Given the description of an element on the screen output the (x, y) to click on. 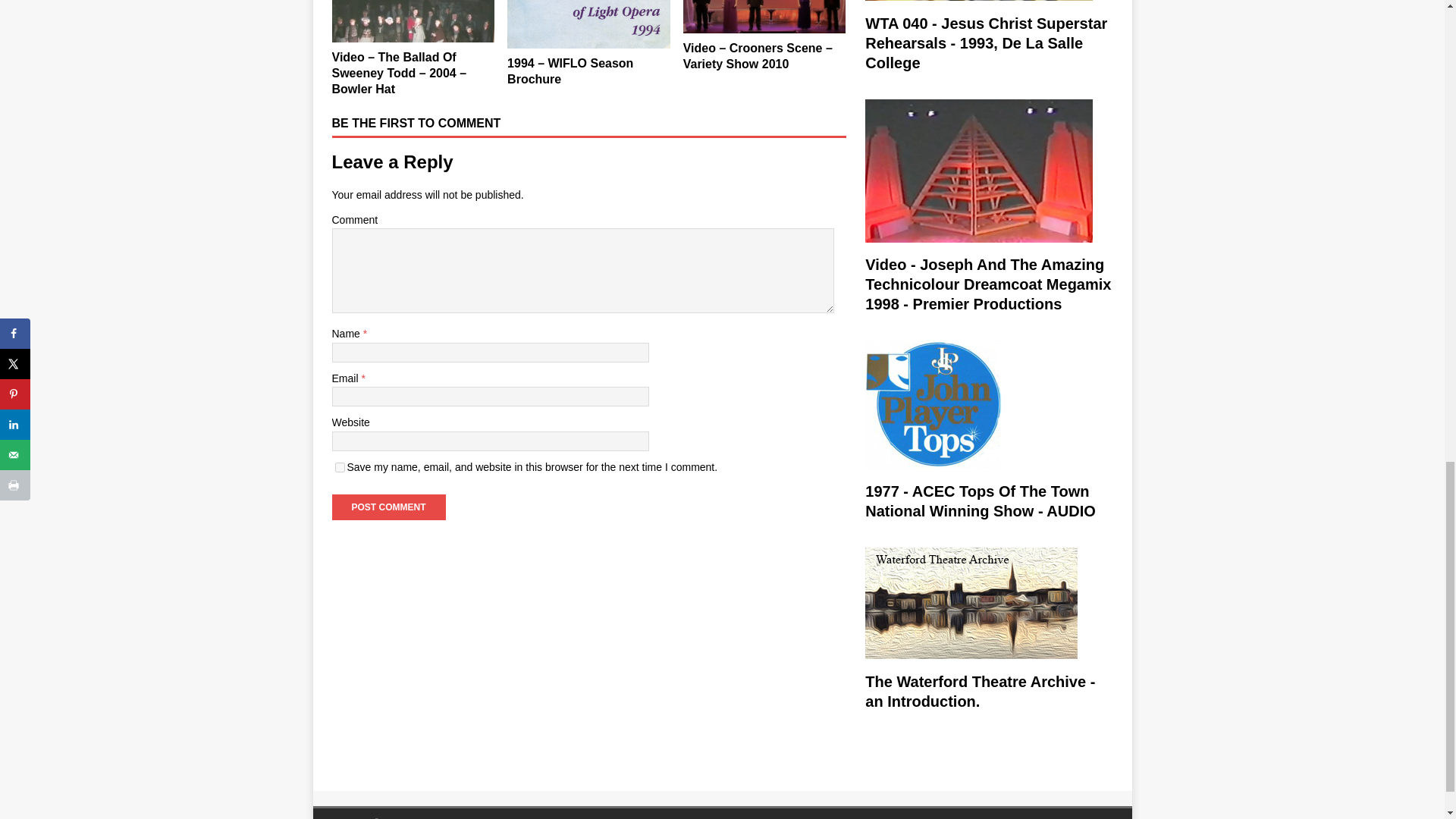
yes (339, 467)
Post Comment (388, 507)
